Given the description of an element on the screen output the (x, y) to click on. 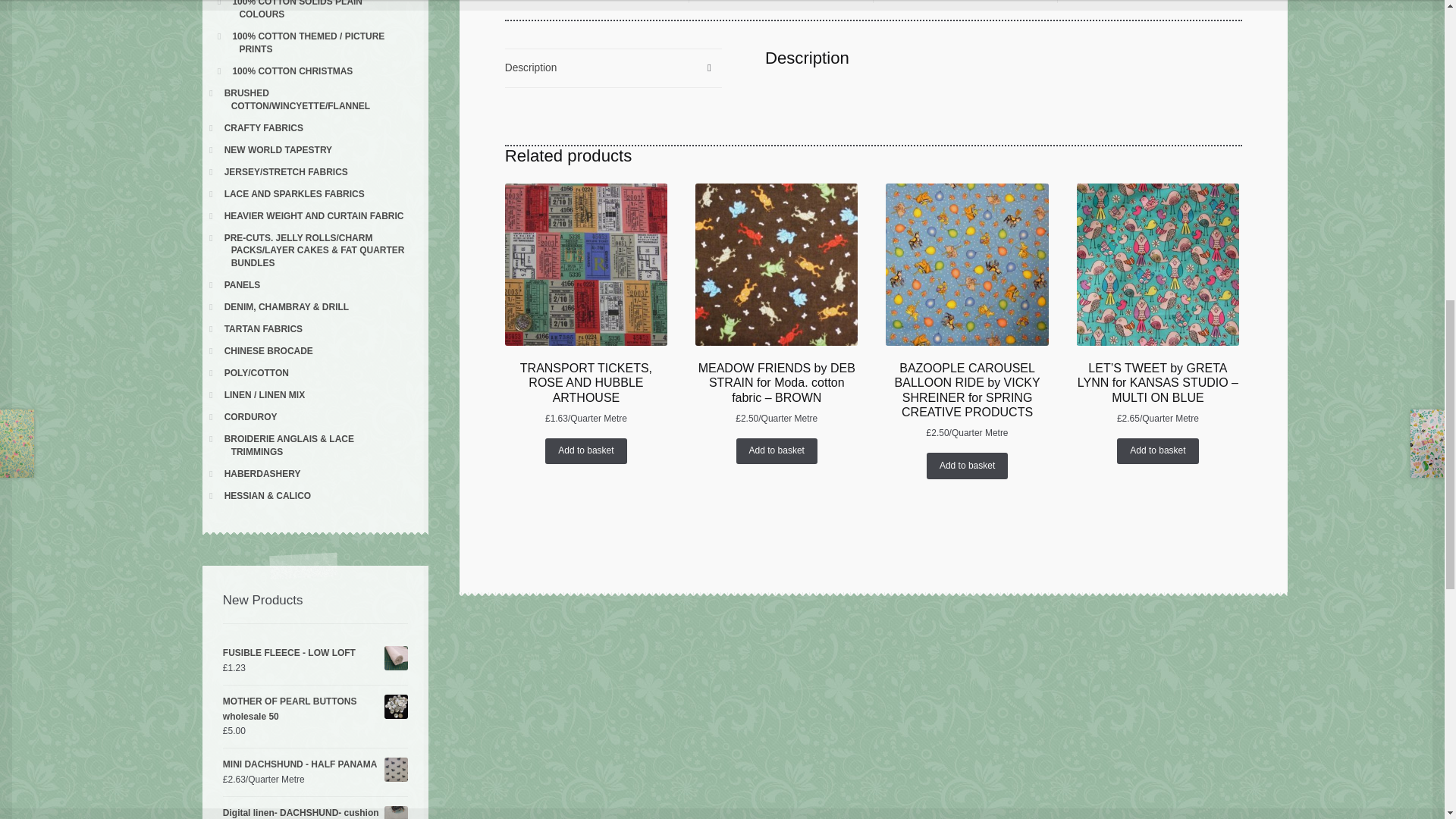
Share on Twitter (596, 2)
Pin this product (965, 2)
Description (613, 67)
Share on Facebook (780, 2)
Share via Email (1149, 2)
